Given the description of an element on the screen output the (x, y) to click on. 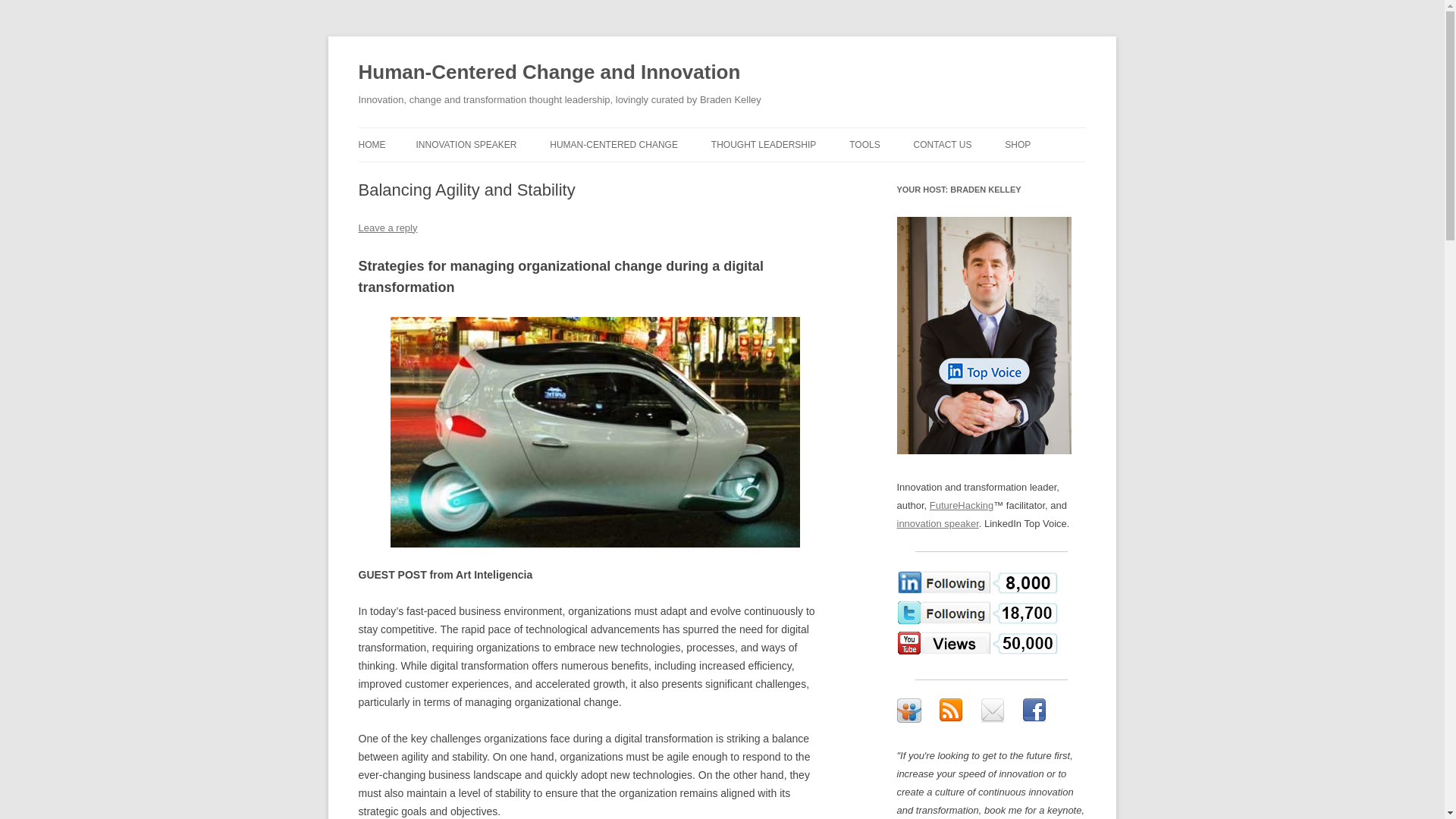
HUMAN-CENTERED CHANGE (614, 144)
Follow Braden Kelley on Facebook (1034, 710)
CONTACT US (943, 144)
THE BOOK (625, 176)
INNOVATION SPEAKER (465, 144)
FREE INNOVATION MATURITY ASSESSMENT (924, 185)
Subscribe to Braden Kelley's RSS feed (950, 710)
THOUGHT LEADERSHIP (763, 144)
NEWSLETTER SIGNUP (989, 176)
Human-Centered Change and Innovation (548, 72)
Subscribe to the Braden Kelley Monthly update (991, 710)
Leave a reply (387, 227)
CART (1080, 176)
BLOG (787, 176)
